Given the description of an element on the screen output the (x, y) to click on. 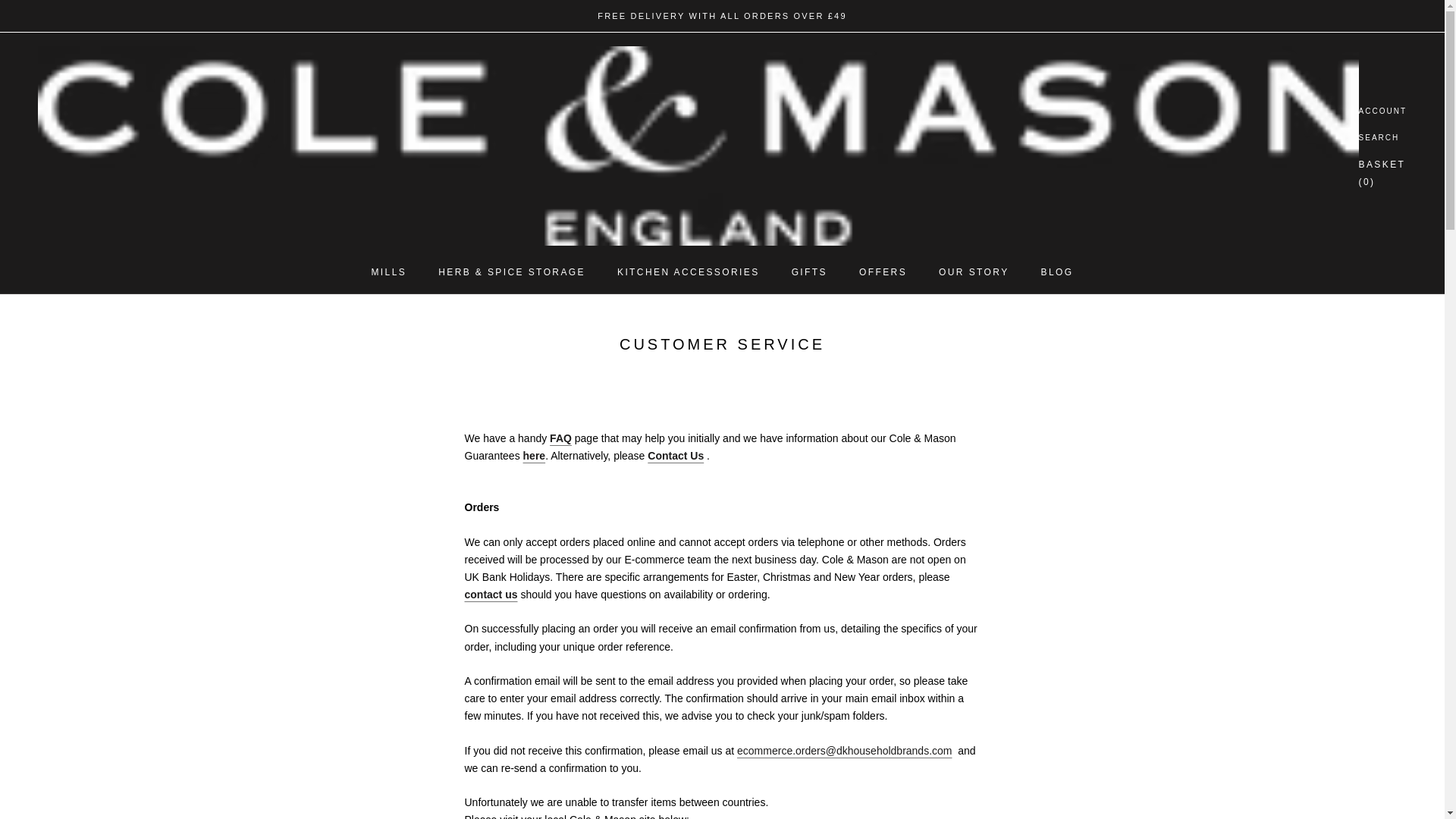
Contact Us (675, 455)
